Given the description of an element on the screen output the (x, y) to click on. 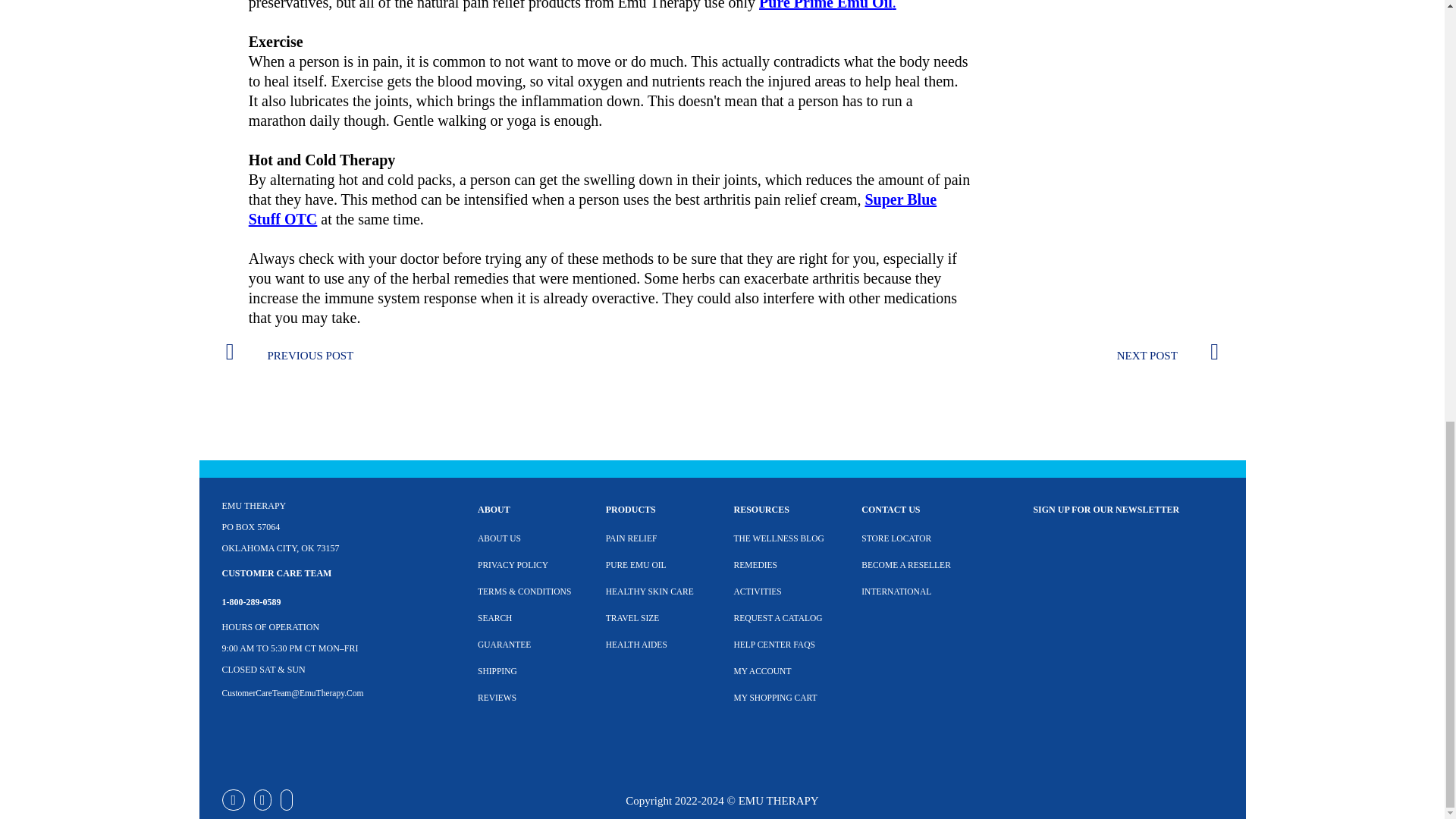
Pure Prime Emu Oil (825, 5)
Super Blue Stuff (592, 208)
